Given the description of an element on the screen output the (x, y) to click on. 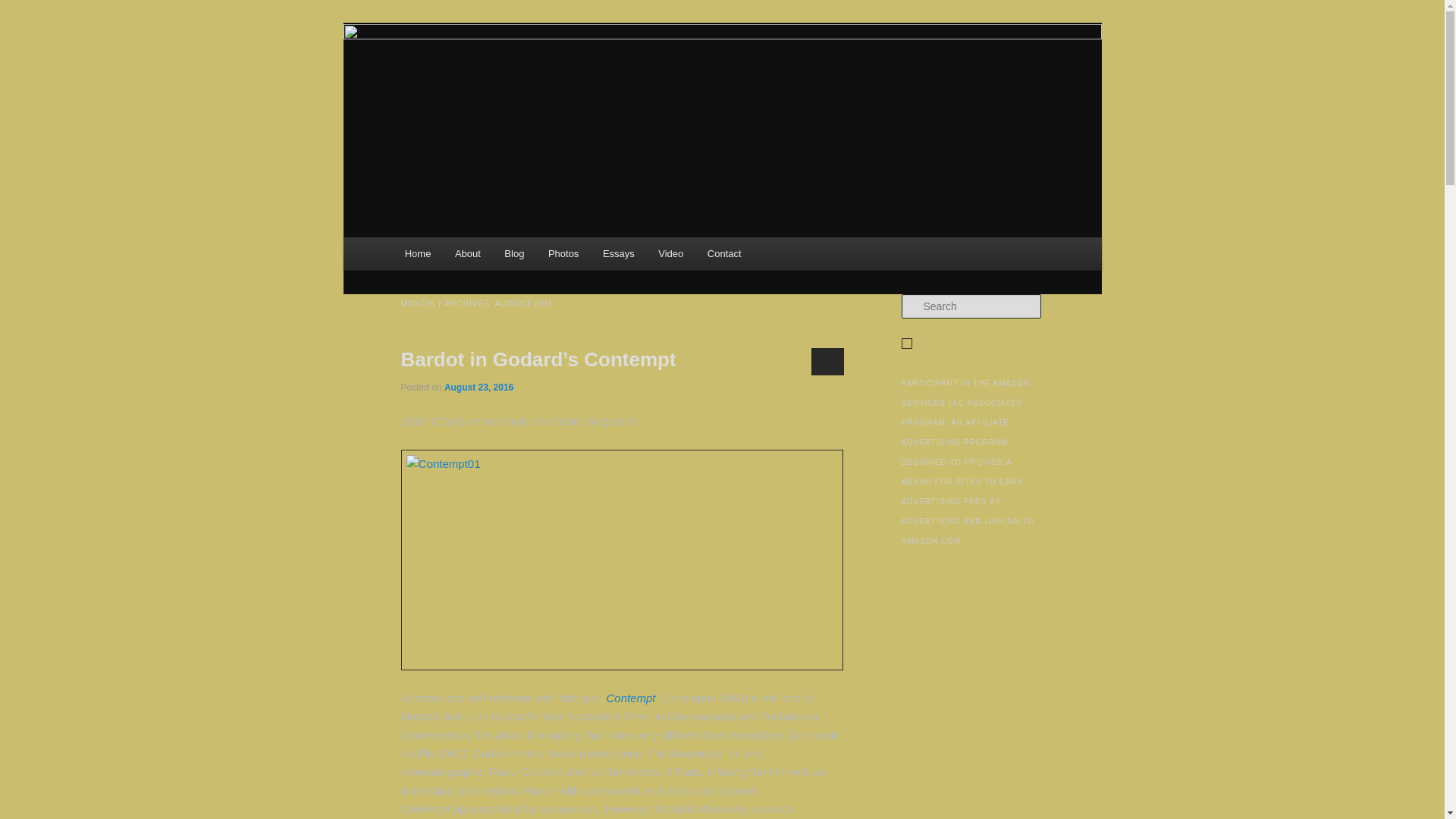
Crimson Kimono (491, 78)
Skip to secondary content (479, 256)
Contact (723, 253)
Skip to primary content (472, 256)
Photos (563, 253)
Crimson Kimono (491, 78)
Home (417, 253)
Blog (515, 253)
4:41 pm (478, 387)
Skip to secondary content (479, 256)
